Given the description of an element on the screen output the (x, y) to click on. 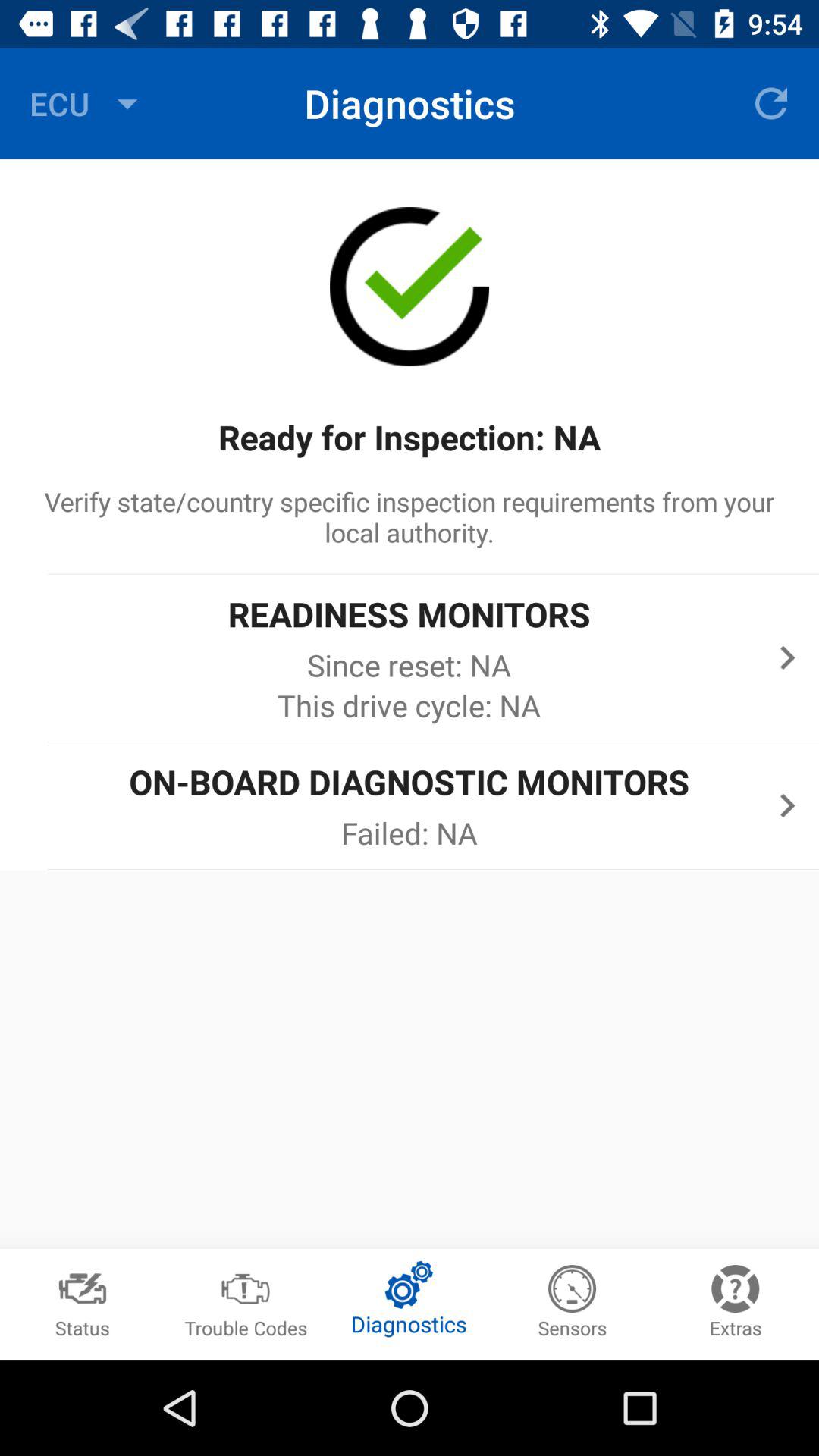
open the icon next to diagnostics icon (771, 103)
